Given the description of an element on the screen output the (x, y) to click on. 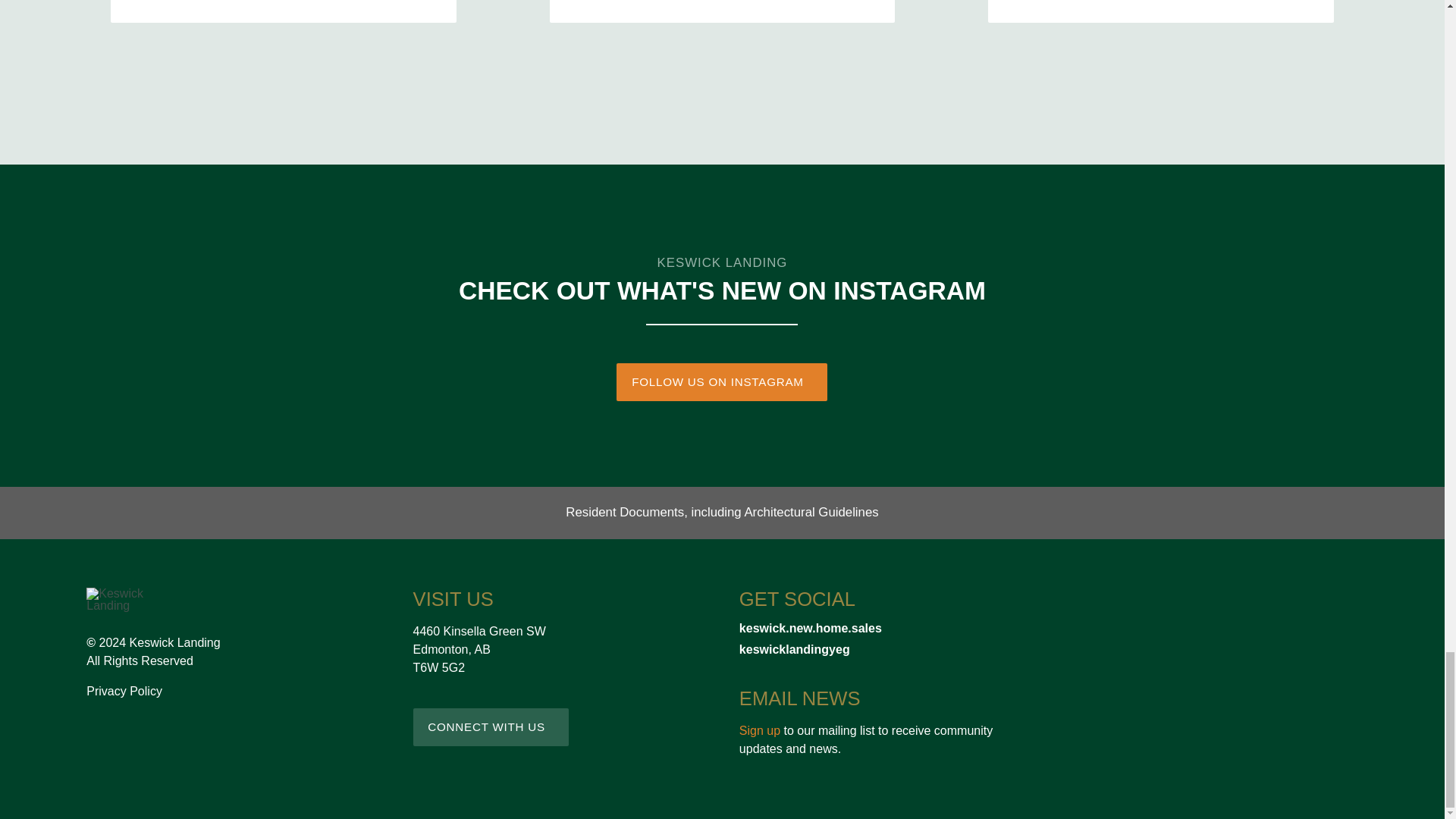
keswick.new.home.sales (885, 628)
Privacy Policy (123, 690)
CONNECT WITH US (491, 726)
keswicklandingyeg (885, 649)
FOLLOW US ON INSTAGRAM (721, 381)
Sign up (759, 730)
